Given the description of an element on the screen output the (x, y) to click on. 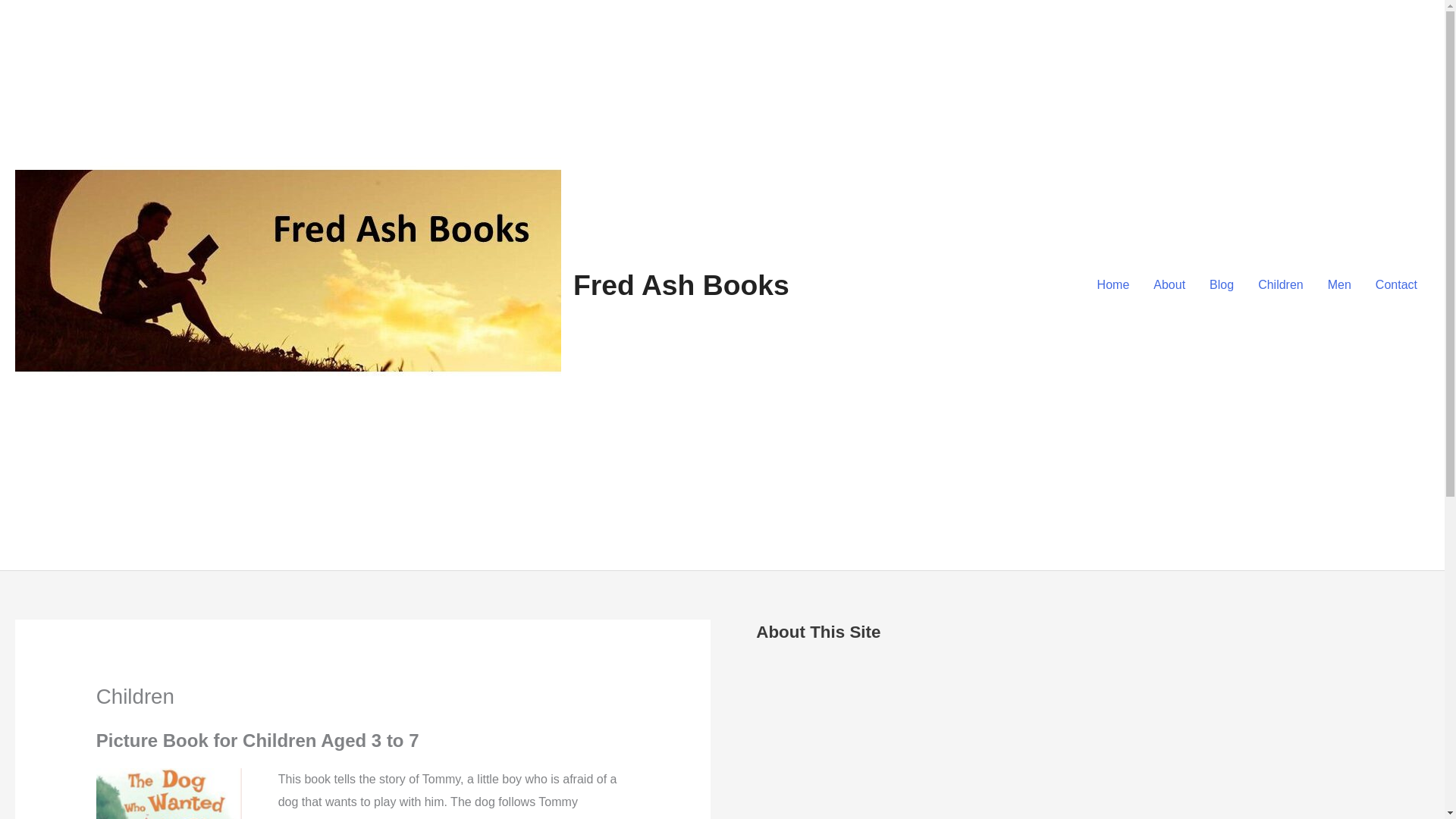
Blog (1221, 285)
Fred Ash Books (681, 285)
About (1168, 285)
Contact (1395, 285)
Men (1339, 285)
Children (1281, 285)
Home (1112, 285)
